Given the description of an element on the screen output the (x, y) to click on. 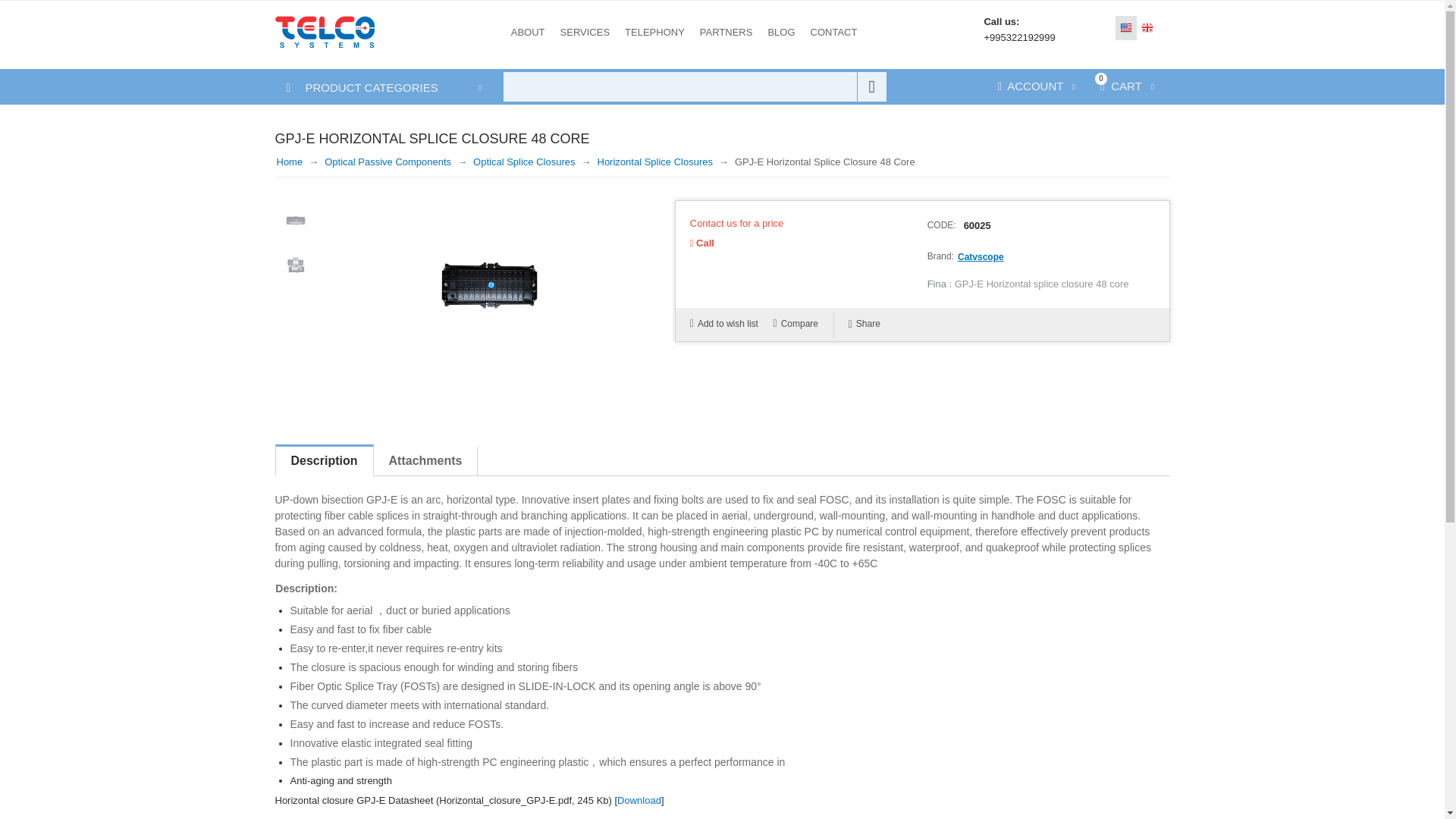
Search (871, 86)
CONTACT (833, 32)
TELEPHONY (655, 32)
SERVICES (585, 32)
PRODUCT CATEGORIES (356, 87)
Search products (693, 86)
BLOG (781, 32)
PARTNERS (726, 32)
ABOUT (528, 32)
